Given the description of an element on the screen output the (x, y) to click on. 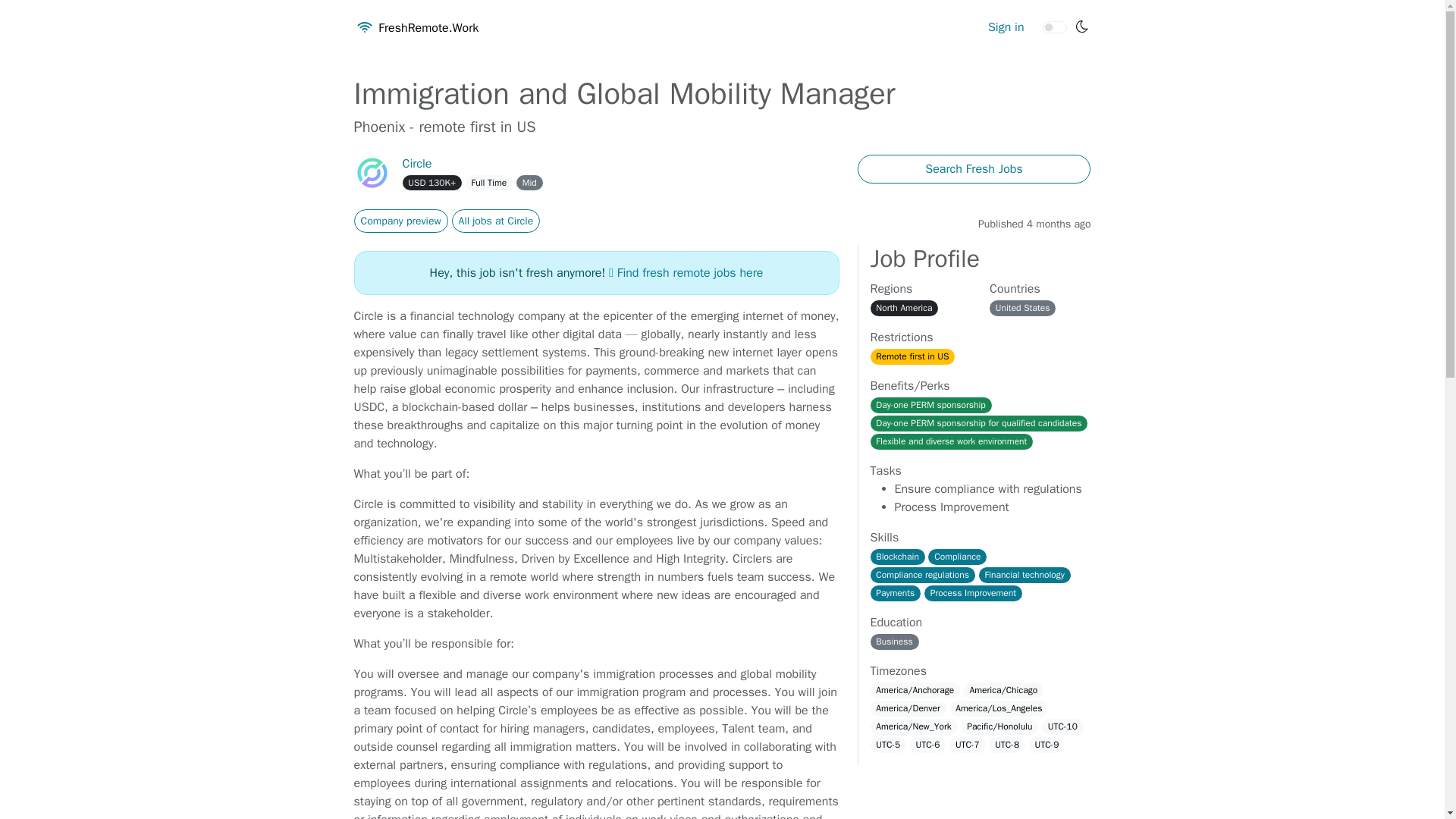
UTC-5 (888, 744)
Financial technology (1024, 574)
Day-one PERM sponsorship for qualified candidates (978, 422)
Payments (895, 592)
FreshRemote.Work (416, 28)
UTC-8 (1006, 744)
United States (1022, 307)
Sign in (1006, 28)
Blockchain (897, 556)
Compliance regulations (922, 574)
